Given the description of an element on the screen output the (x, y) to click on. 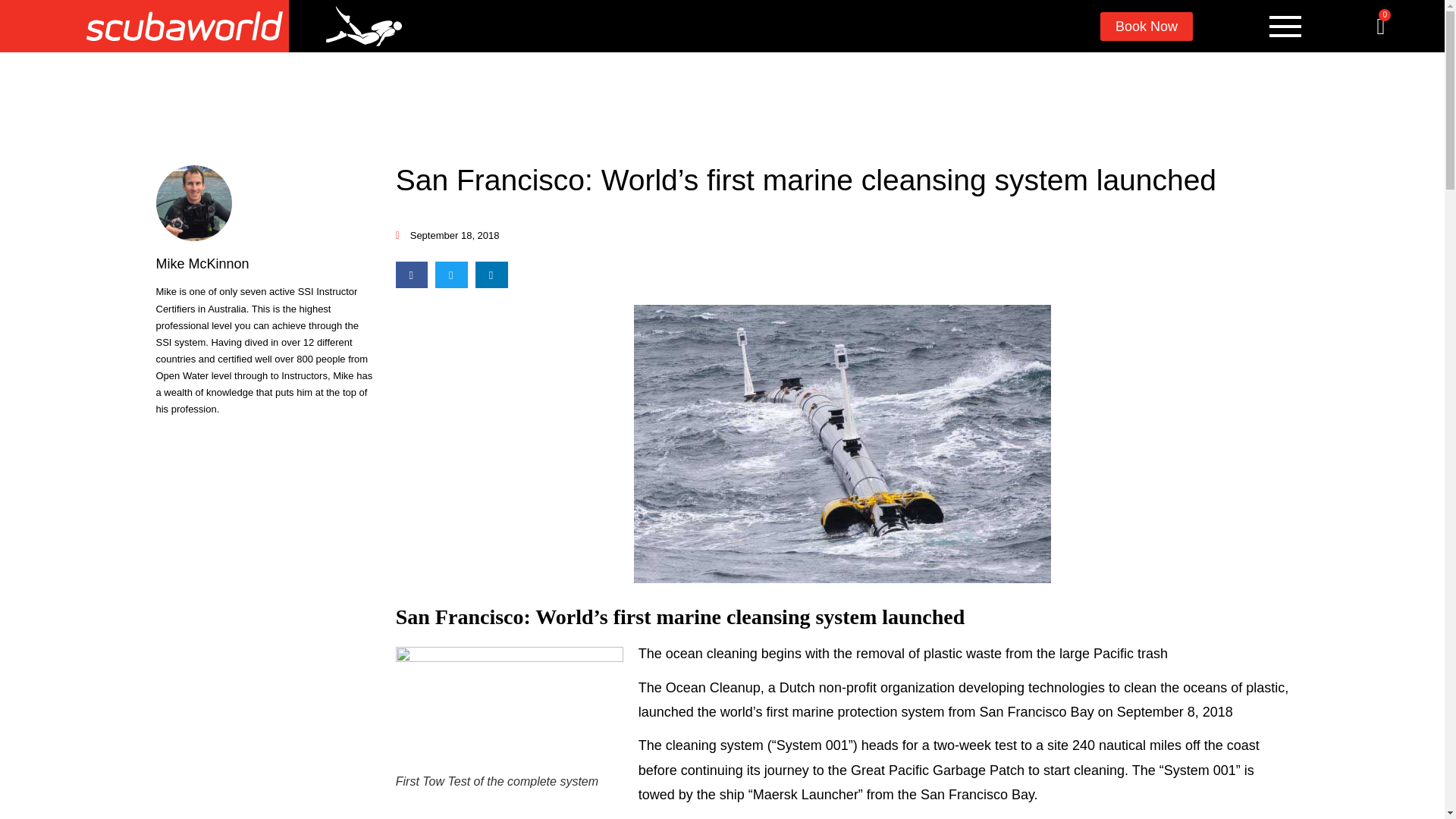
0 (1380, 25)
September 18, 2018 (447, 235)
Book Now (1146, 26)
